Given the description of an element on the screen output the (x, y) to click on. 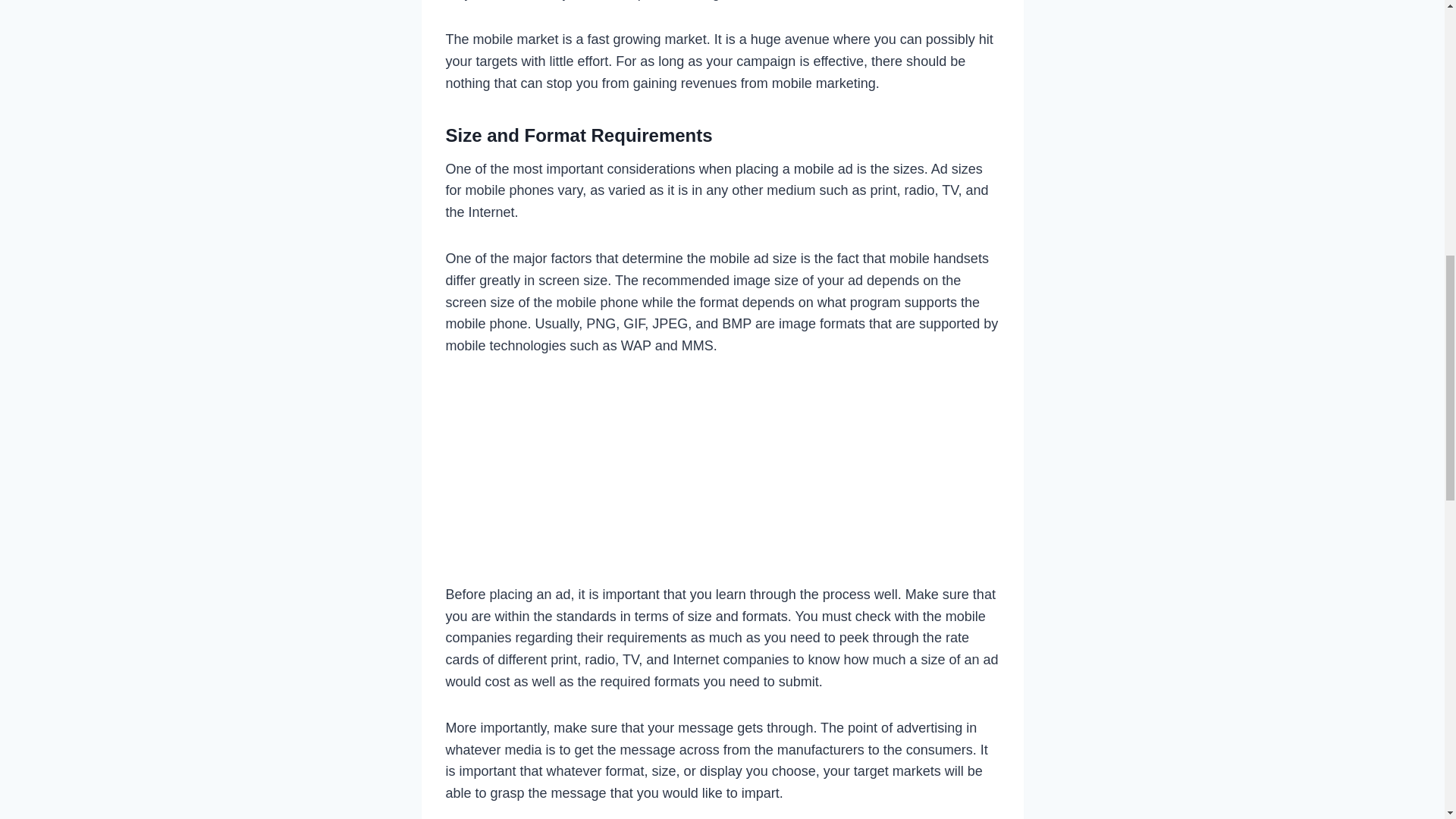
Advertisement (721, 475)
